Given the description of an element on the screen output the (x, y) to click on. 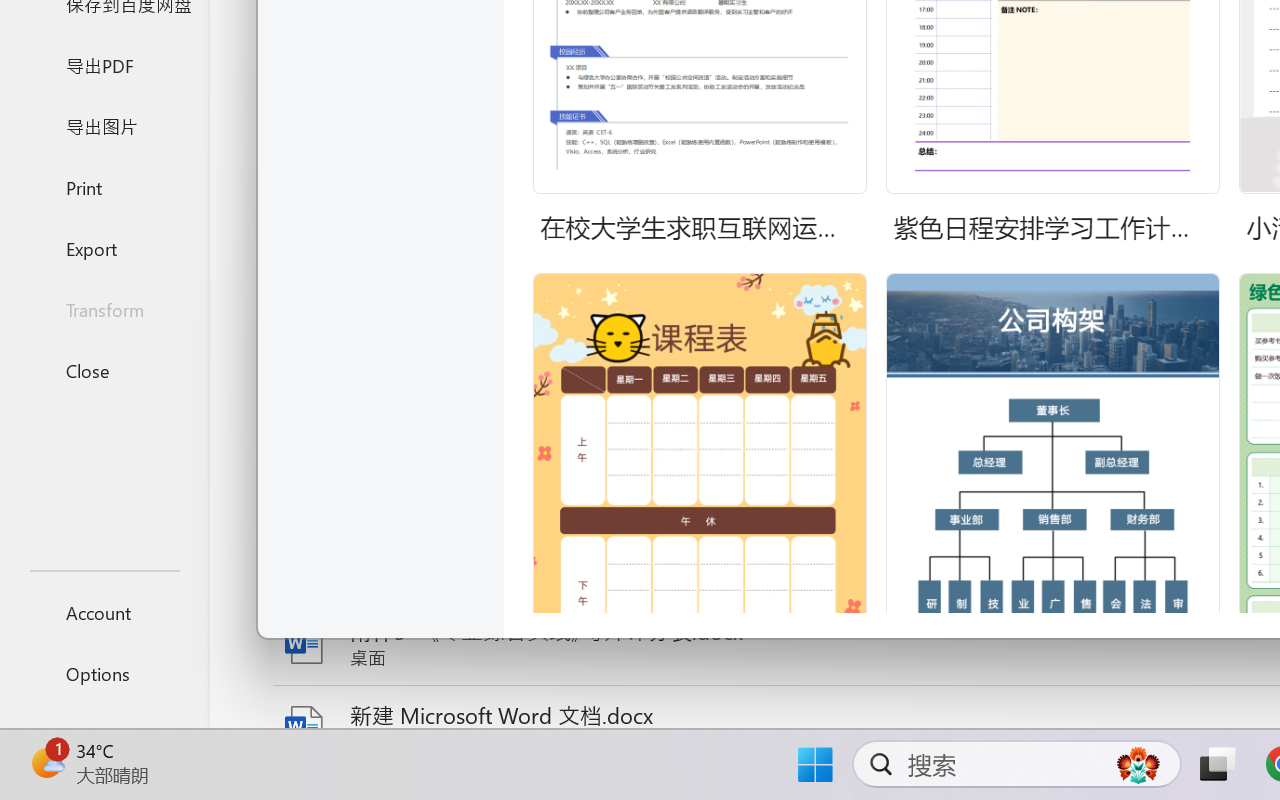
AutomationID: DynamicSearchBoxGleamImage (1138, 764)
Close (104, 370)
Options (104, 673)
AutomationID: BadgeAnchorLargeTicker (46, 762)
Transform (104, 309)
